Given the description of an element on the screen output the (x, y) to click on. 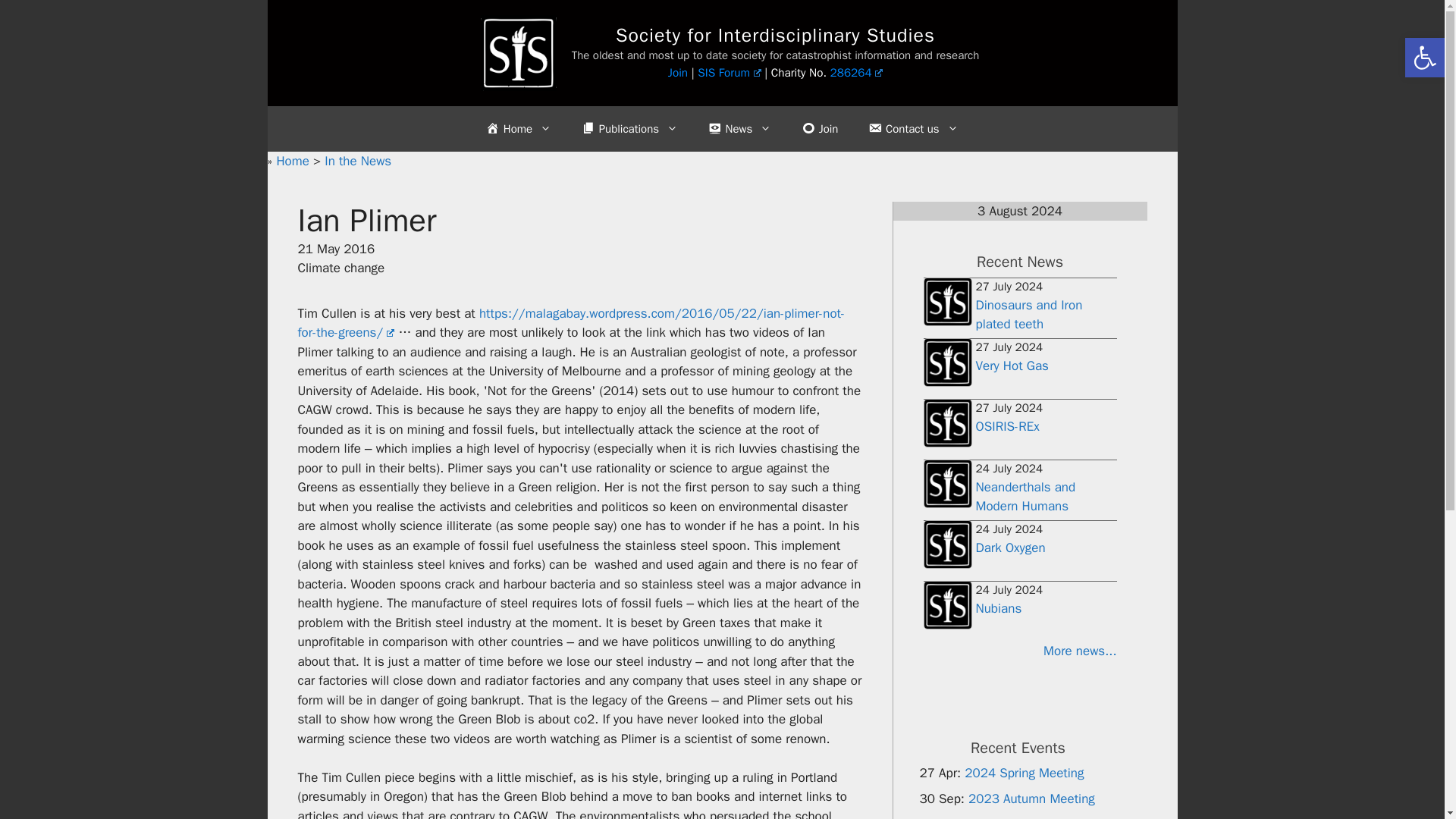
News (739, 128)
286264 (856, 72)
Society for Interdisciplinary Studies (774, 34)
Publications (629, 128)
Join (819, 128)
Accessibility Tools (1424, 57)
SIS Forum (728, 72)
Join (677, 72)
Contact us (912, 128)
Home (294, 160)
Home (518, 128)
